Given the description of an element on the screen output the (x, y) to click on. 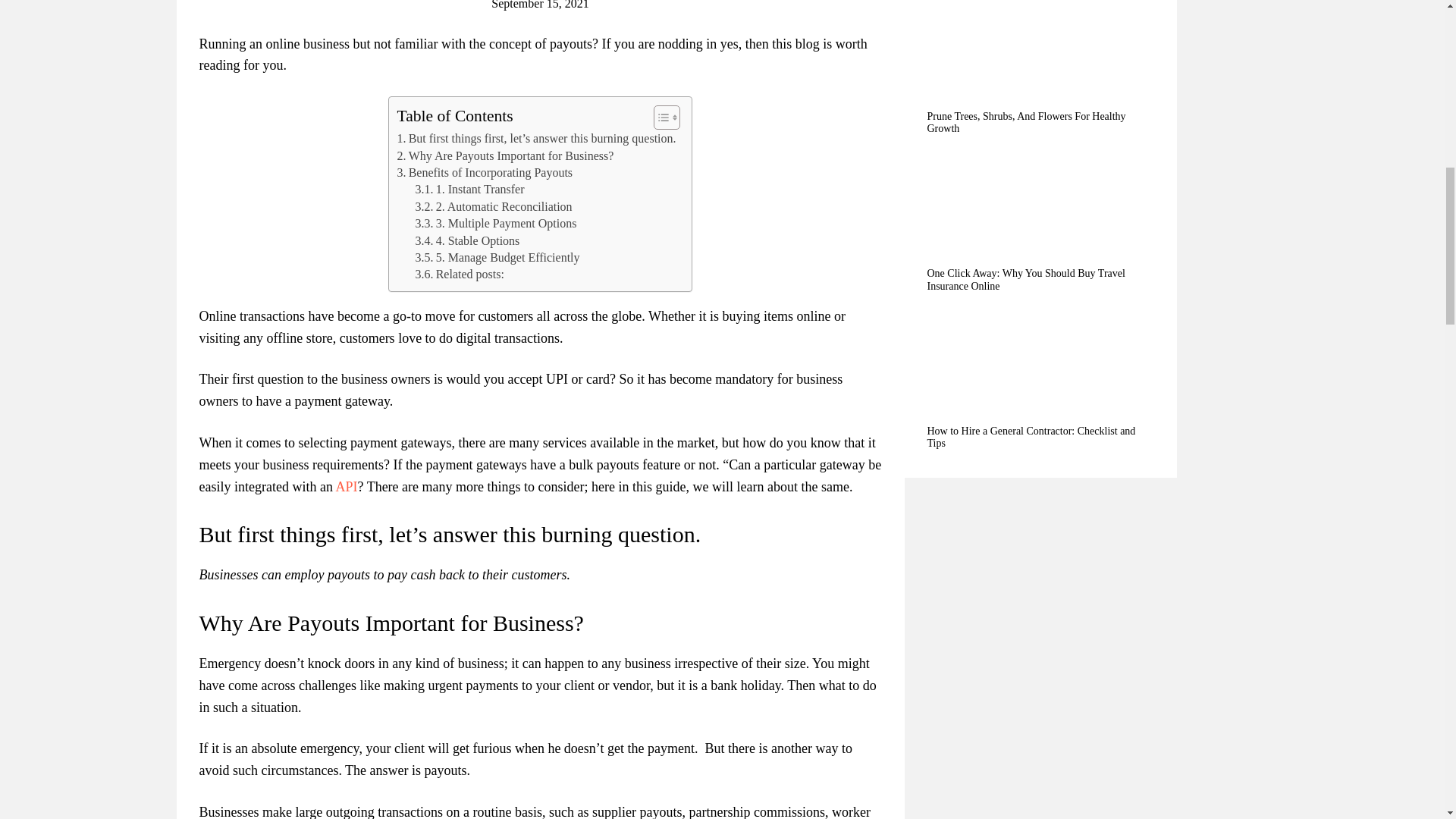
1. Instant Transfer (469, 189)
5. Manage Budget Efficiently (496, 257)
Why Are Payouts Important for Business? (504, 156)
2. Automatic Reconciliation (493, 207)
Related posts: (458, 274)
Benefits of Incorporating Payouts (484, 172)
4. Stable Options (466, 240)
3. Multiple Payment Options (495, 223)
